Given the description of an element on the screen output the (x, y) to click on. 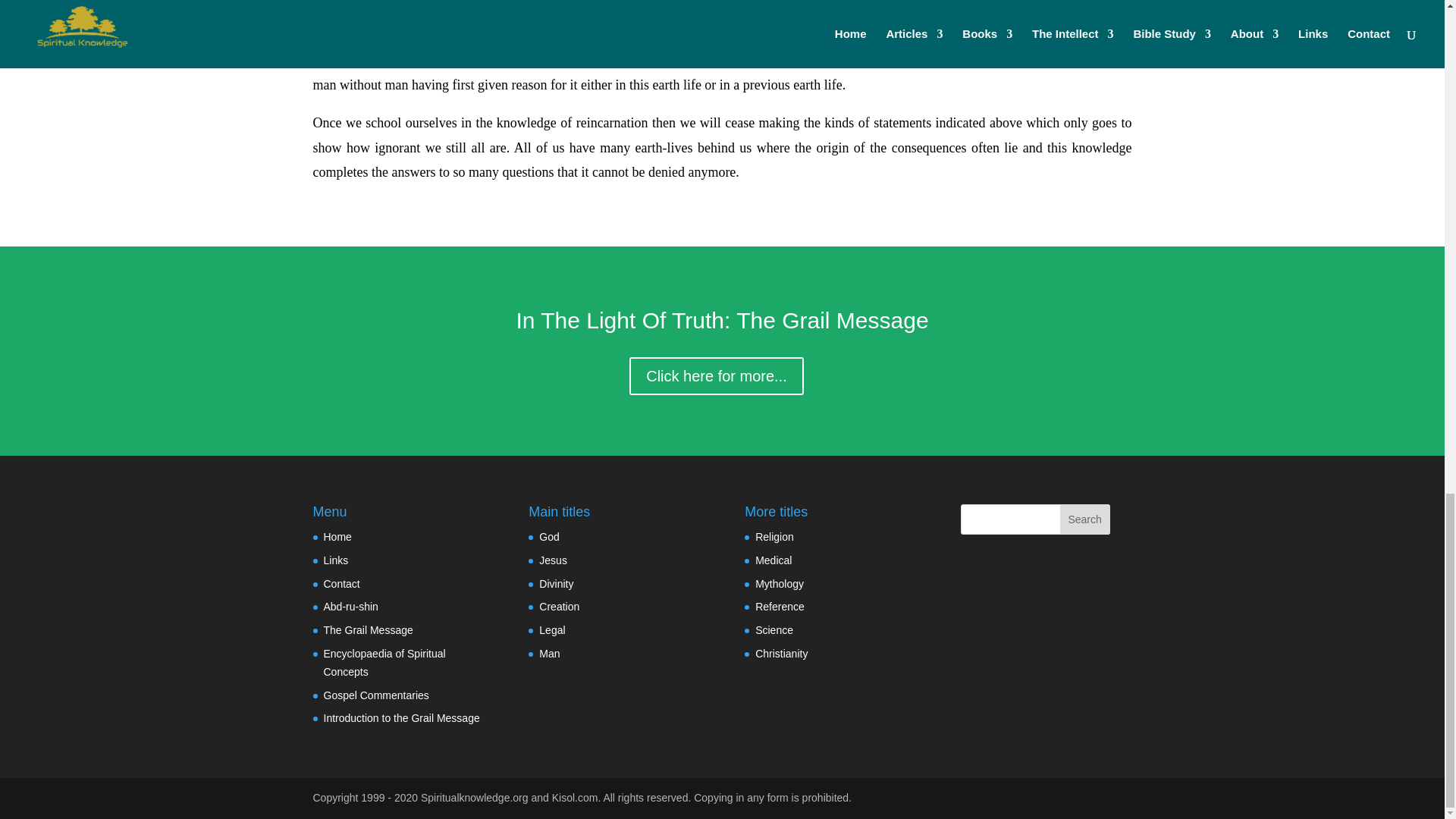
Search (1084, 519)
